Given the description of an element on the screen output the (x, y) to click on. 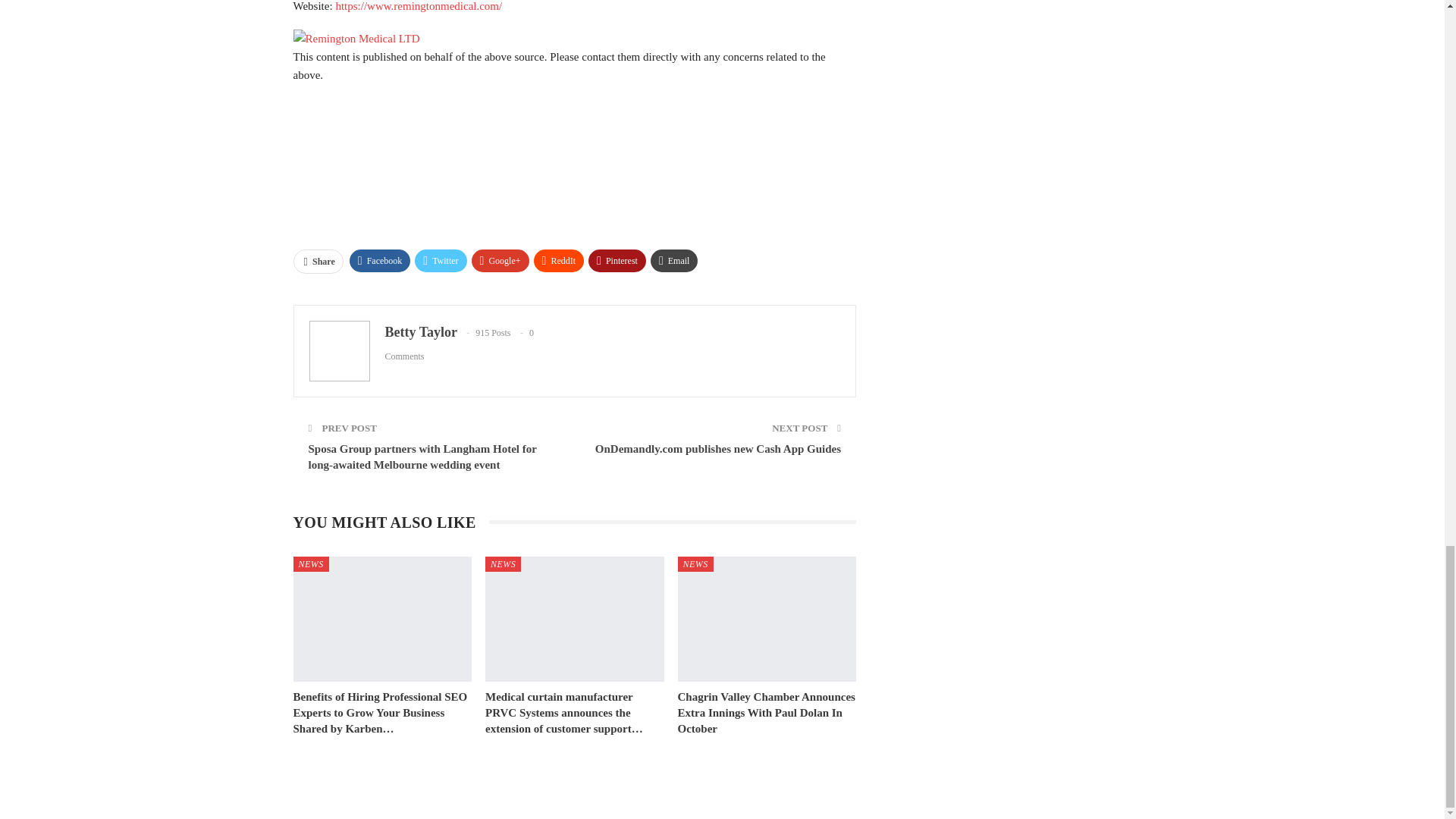
ReddIt (559, 260)
Betty Taylor (421, 331)
OnDemandly.com publishes new Cash App Guides (718, 449)
Email (674, 260)
Twitter (439, 260)
Pinterest (617, 260)
Facebook (379, 260)
